Given the description of an element on the screen output the (x, y) to click on. 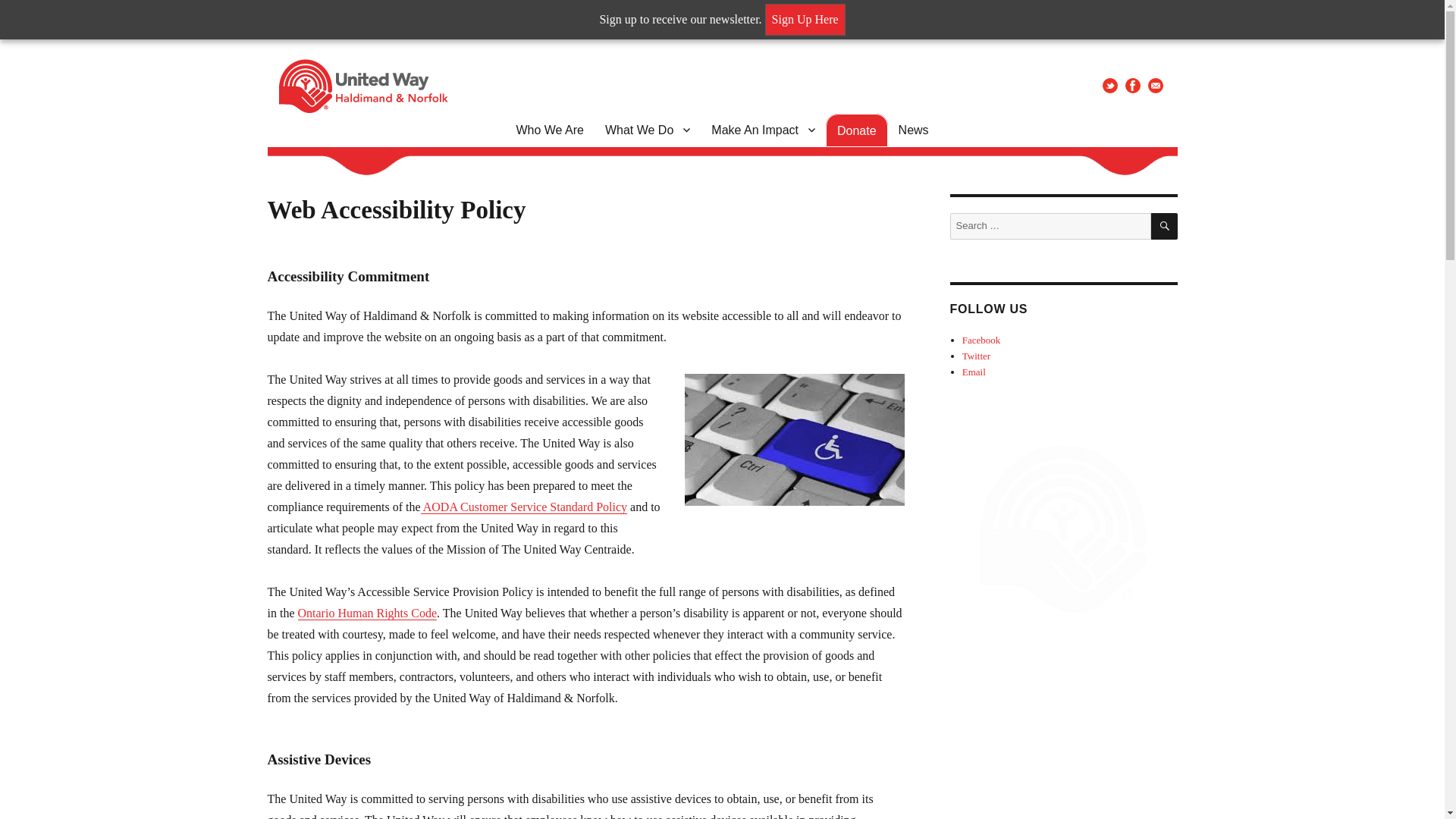
AODA Customer Service Standard Policy (523, 506)
SEARCH (1164, 225)
Email (973, 371)
What We Do (647, 129)
News (913, 129)
Ontario Human Rights Code (366, 612)
Facebook (981, 339)
Sign Up Here (805, 20)
Who We Are (549, 129)
Want to see? (366, 612)
